Given the description of an element on the screen output the (x, y) to click on. 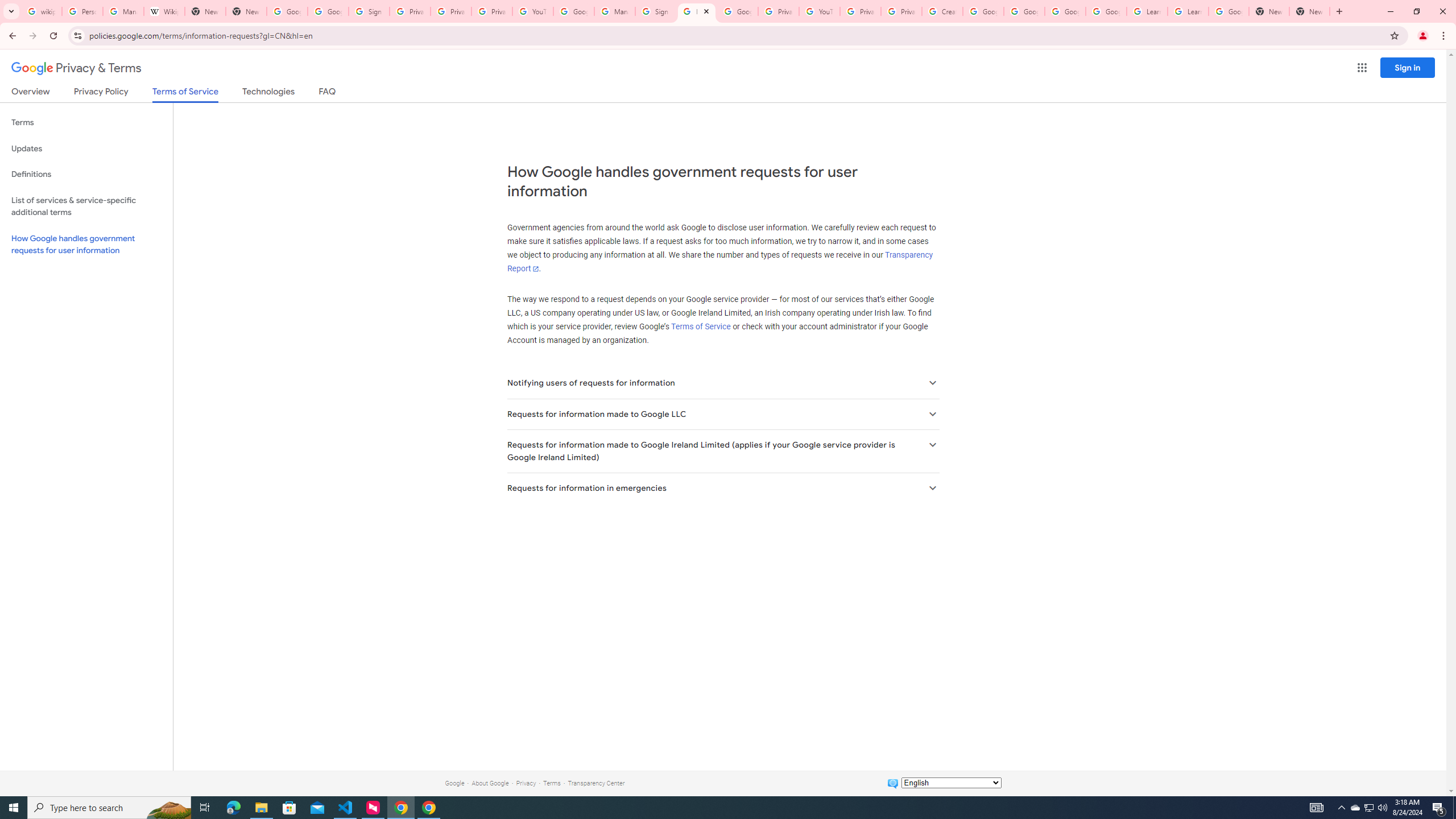
Wikipedia:Edit requests - Wikipedia (163, 11)
Personalization & Google Search results - Google Search Help (81, 11)
Transparency Center (595, 783)
Google Account Help (573, 11)
New Tab (246, 11)
Google Account Help (1064, 11)
